Given the description of an element on the screen output the (x, y) to click on. 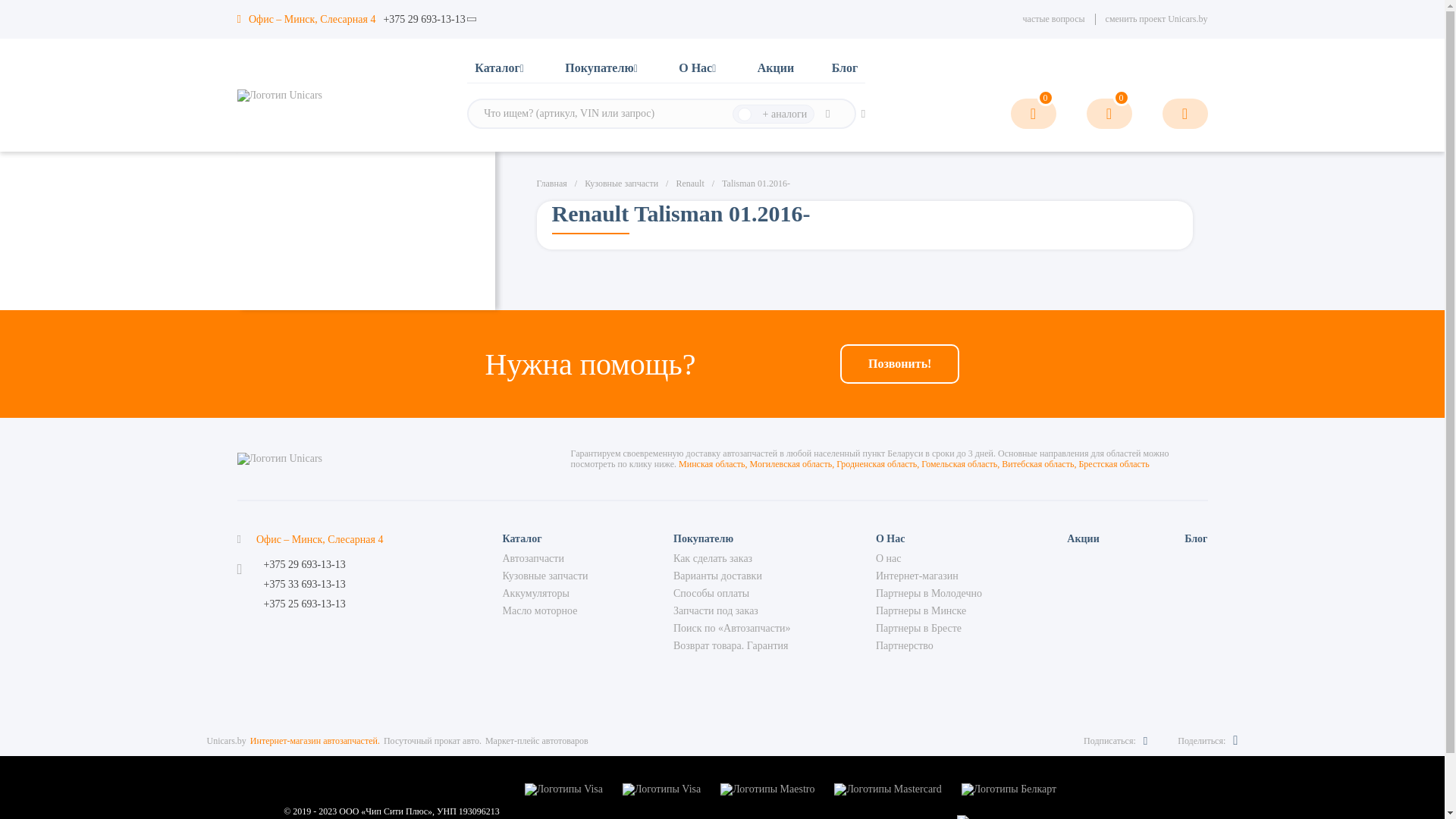
0 Element type: text (1032, 113)
+375 29 693-13-13 Element type: text (304, 564)
Renault Element type: text (689, 183)
+375 25 693-13-13 Element type: text (304, 604)
+375 33 693-13-13 Element type: text (304, 584)
0 Element type: text (1108, 113)
